Given the description of an element on the screen output the (x, y) to click on. 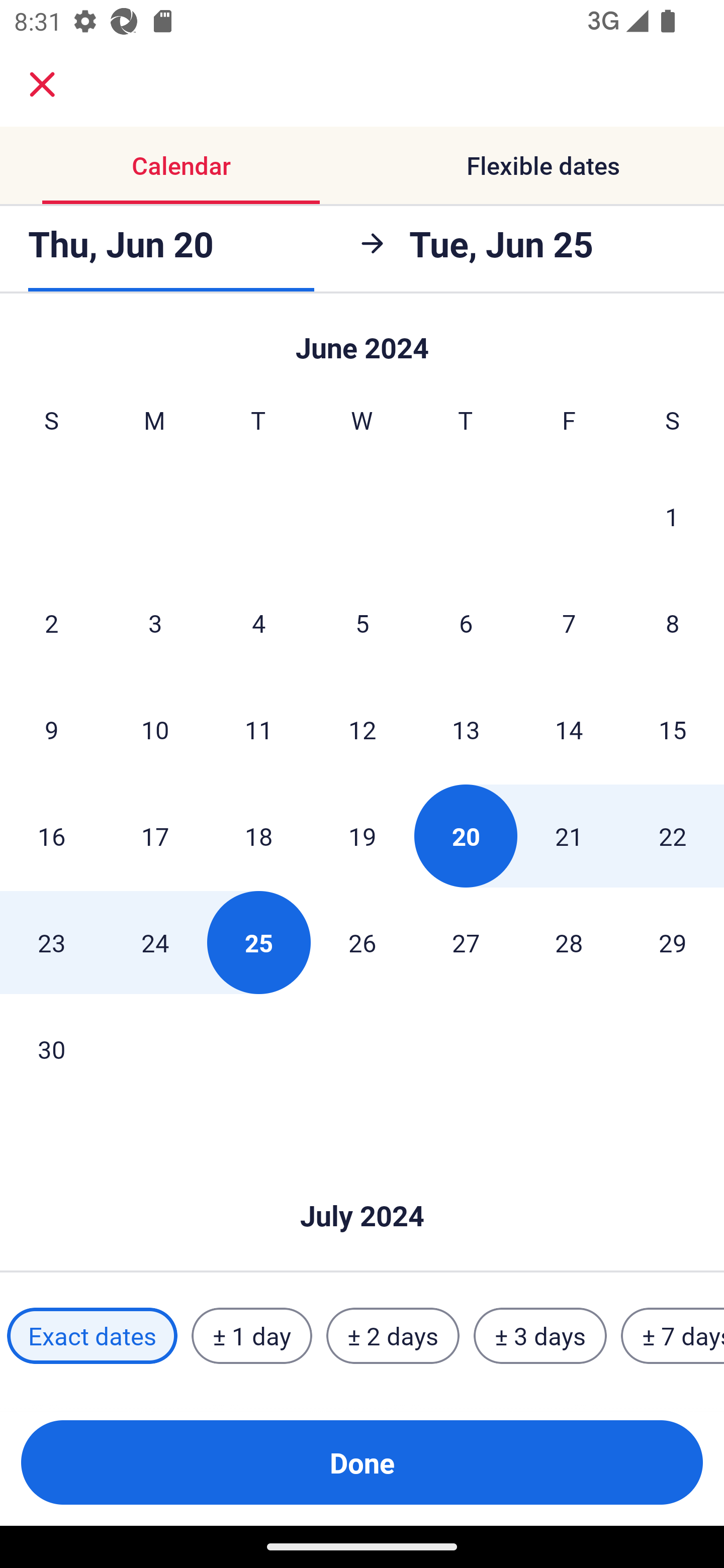
close. (42, 84)
Flexible dates (542, 164)
1 Saturday, June 1, 2024 (672, 515)
2 Sunday, June 2, 2024 (51, 622)
3 Monday, June 3, 2024 (155, 622)
4 Tuesday, June 4, 2024 (258, 622)
5 Wednesday, June 5, 2024 (362, 622)
6 Thursday, June 6, 2024 (465, 622)
7 Friday, June 7, 2024 (569, 622)
8 Saturday, June 8, 2024 (672, 622)
9 Sunday, June 9, 2024 (51, 728)
10 Monday, June 10, 2024 (155, 728)
11 Tuesday, June 11, 2024 (258, 728)
12 Wednesday, June 12, 2024 (362, 728)
13 Thursday, June 13, 2024 (465, 728)
14 Friday, June 14, 2024 (569, 728)
15 Saturday, June 15, 2024 (672, 728)
16 Sunday, June 16, 2024 (51, 835)
17 Monday, June 17, 2024 (155, 835)
18 Tuesday, June 18, 2024 (258, 835)
19 Wednesday, June 19, 2024 (362, 835)
26 Wednesday, June 26, 2024 (362, 942)
27 Thursday, June 27, 2024 (465, 942)
28 Friday, June 28, 2024 (569, 942)
29 Saturday, June 29, 2024 (672, 942)
30 Sunday, June 30, 2024 (51, 1048)
Skip to Done (362, 1185)
Exact dates (92, 1335)
± 1 day (251, 1335)
± 2 days (392, 1335)
± 3 days (539, 1335)
± 7 days (672, 1335)
Done (361, 1462)
